Given the description of an element on the screen output the (x, y) to click on. 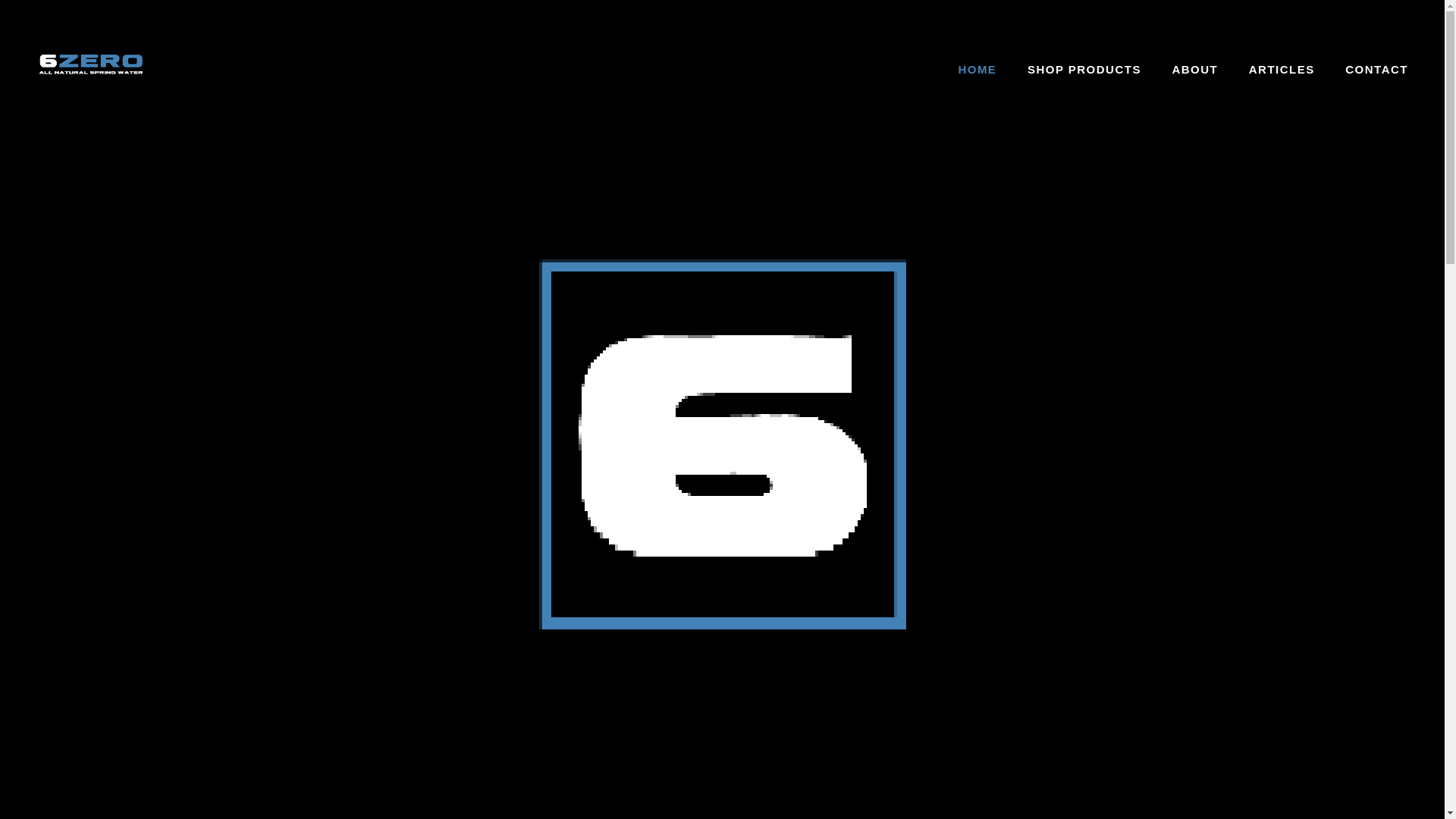
CONTACT (1376, 69)
ARTICLES (1281, 69)
HOME (976, 69)
SHOP PRODUCTS (1084, 69)
ABOUT (1194, 69)
6ZERO (90, 69)
